Given the description of an element on the screen output the (x, y) to click on. 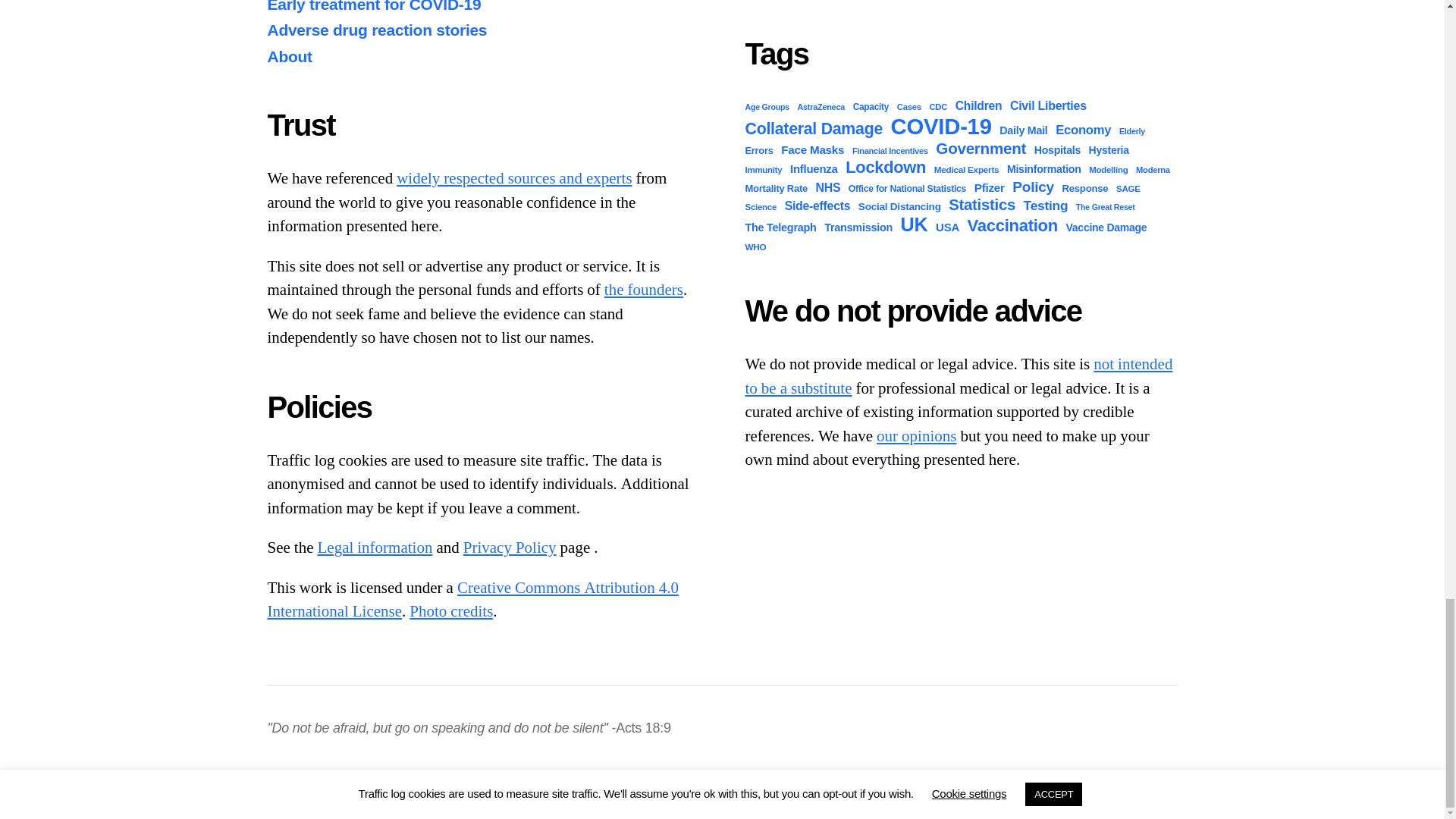
About (643, 290)
Legal information (374, 547)
Information sources (513, 178)
Privacy policy (509, 547)
